Given the description of an element on the screen output the (x, y) to click on. 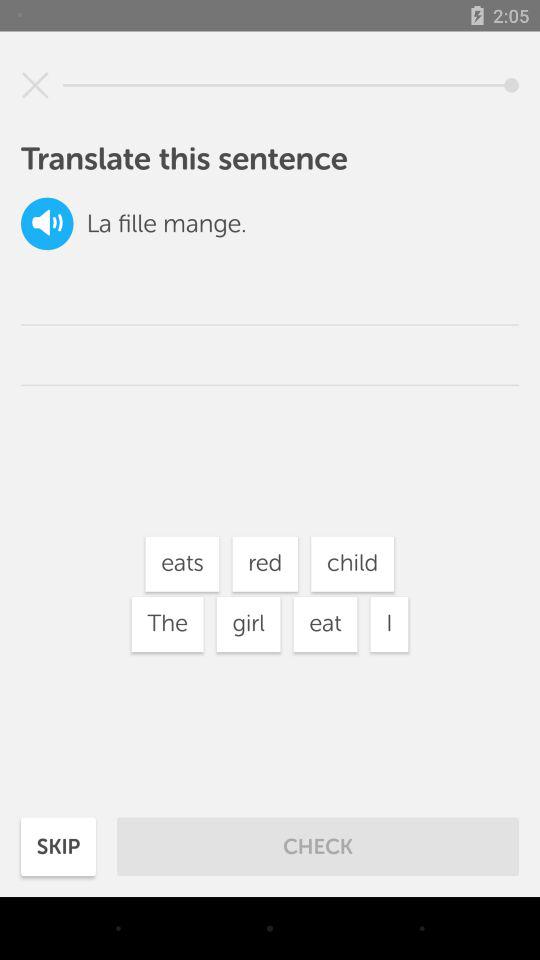
close sentence (35, 85)
